Given the description of an element on the screen output the (x, y) to click on. 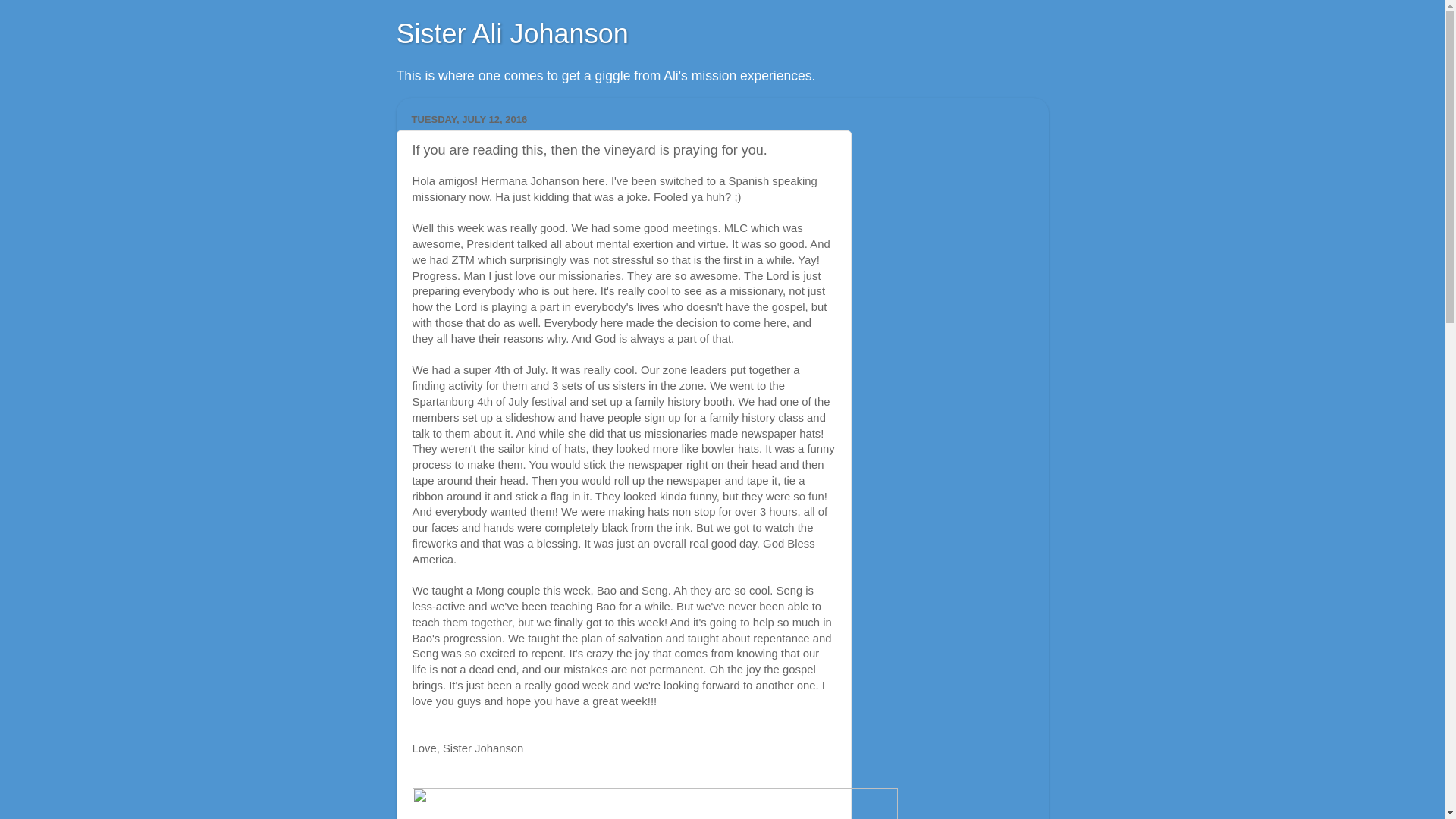
Sister Ali Johanson (511, 33)
